Given the description of an element on the screen output the (x, y) to click on. 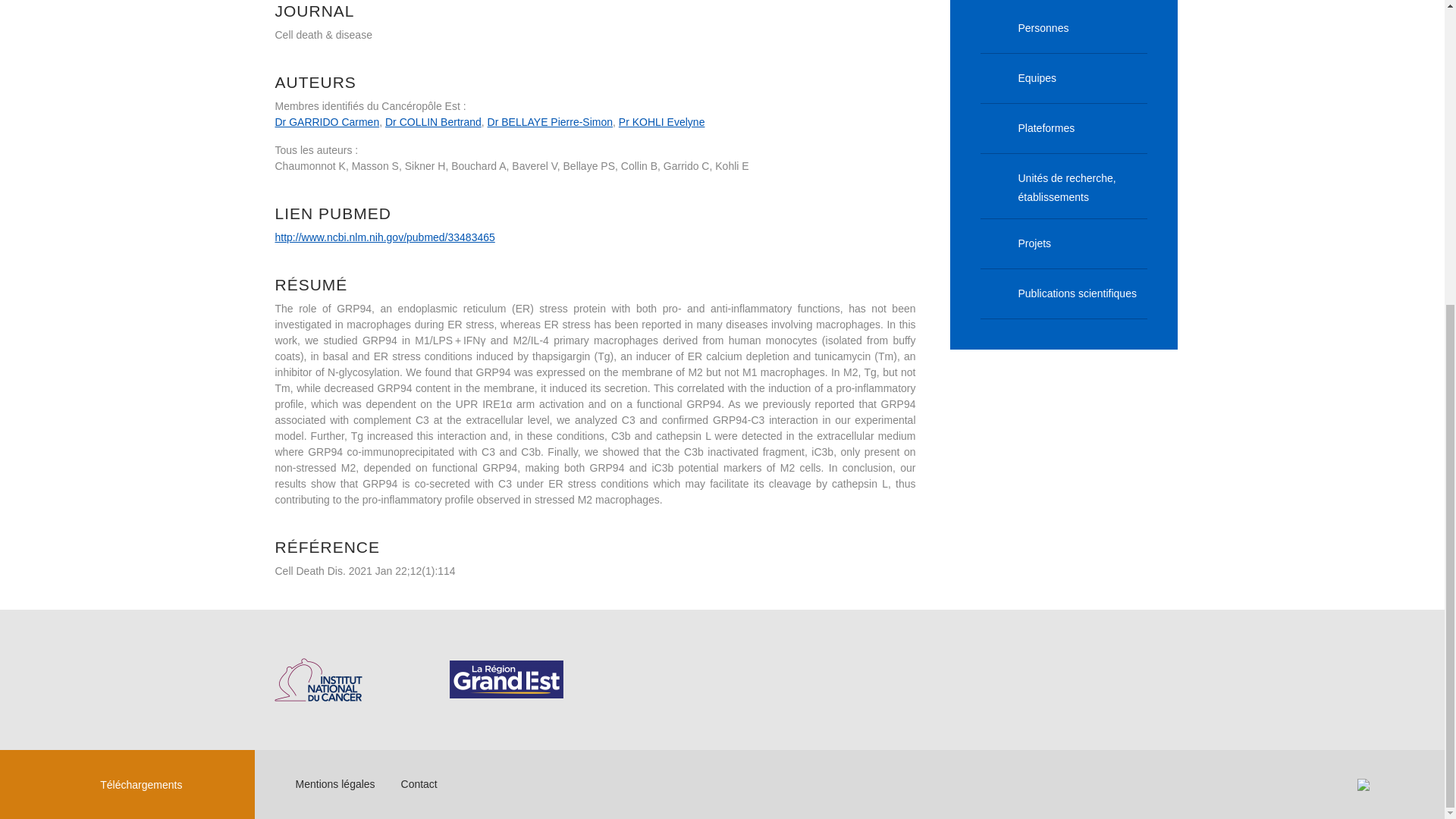
Dr GARRIDO Carmen (326, 121)
Dr COLLIN Bertrand (433, 121)
